Given the description of an element on the screen output the (x, y) to click on. 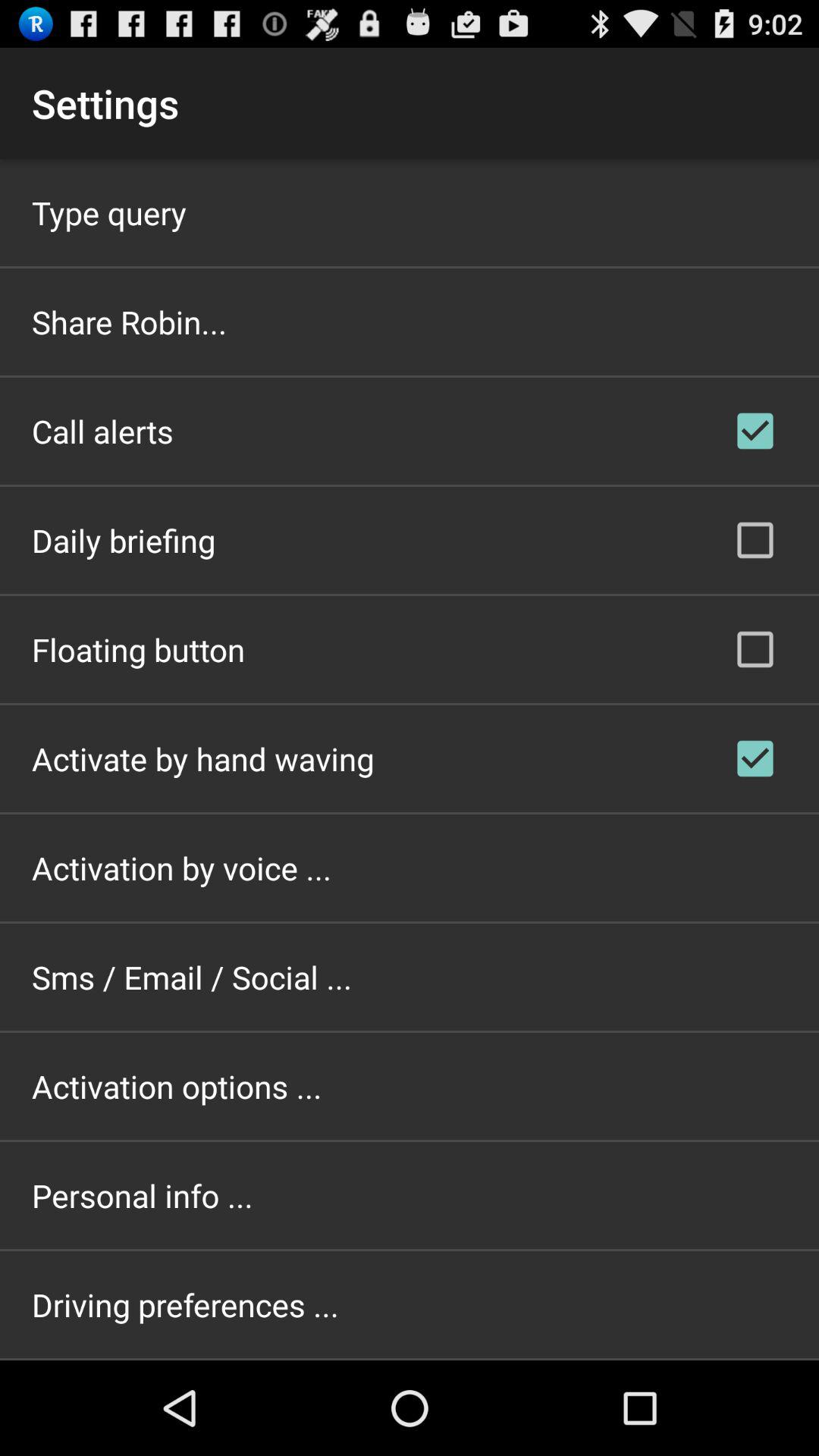
click app below the share robin... app (102, 430)
